Given the description of an element on the screen output the (x, y) to click on. 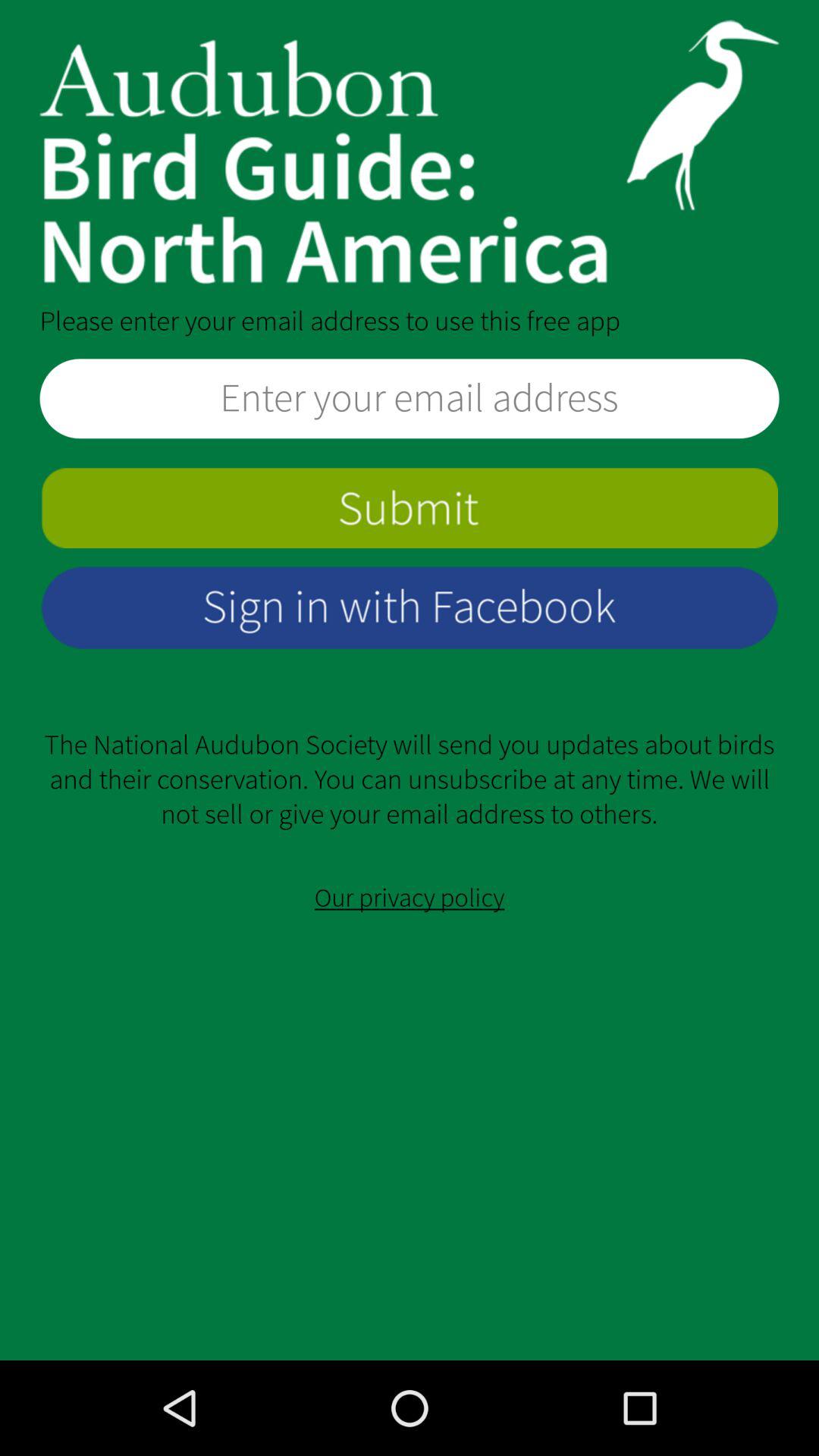
go to home (409, 151)
